Given the description of an element on the screen output the (x, y) to click on. 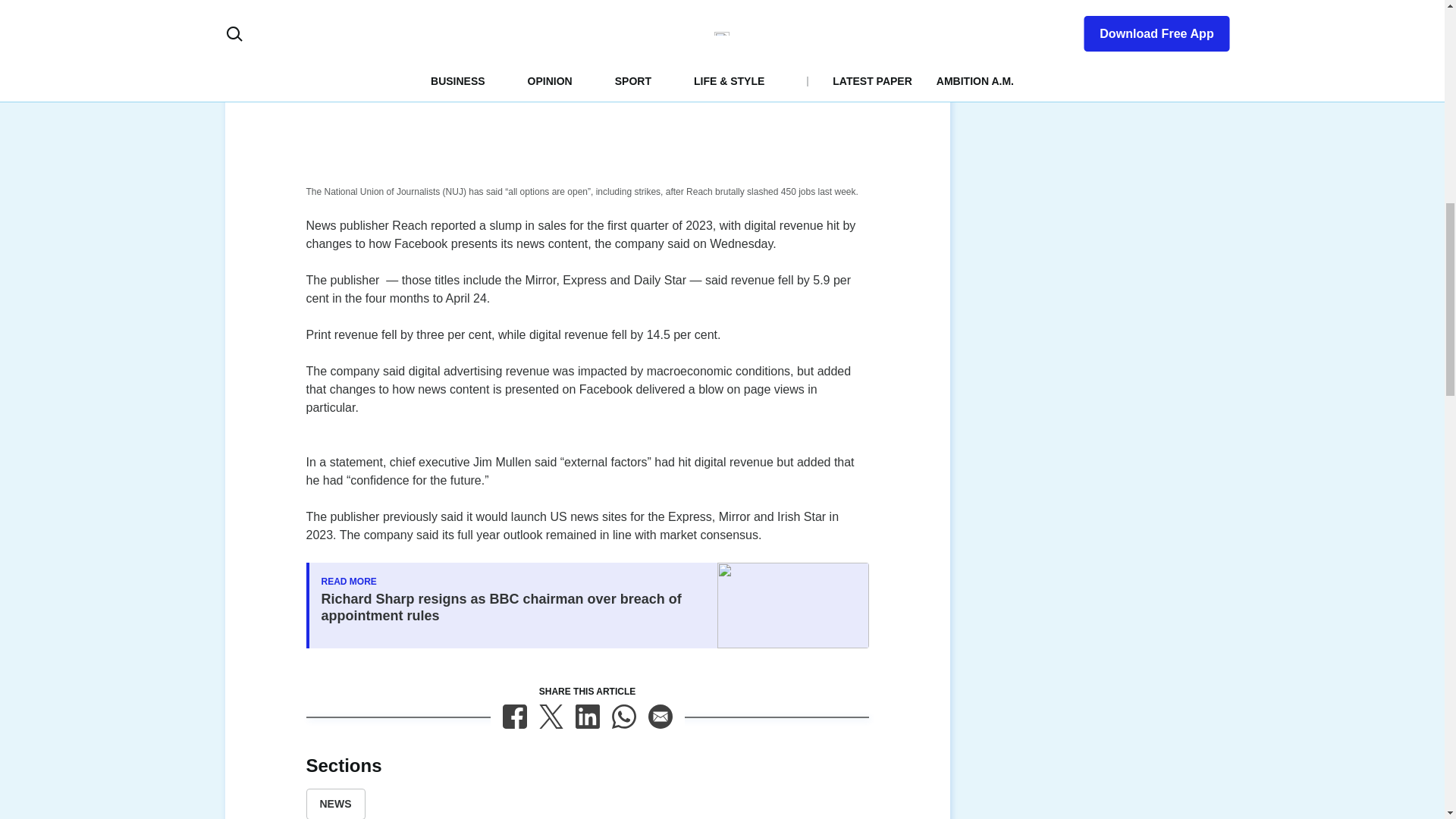
Email (659, 716)
Facebook (513, 716)
LinkedIn (586, 716)
WhatsApp (622, 716)
X (550, 716)
